Given the description of an element on the screen output the (x, y) to click on. 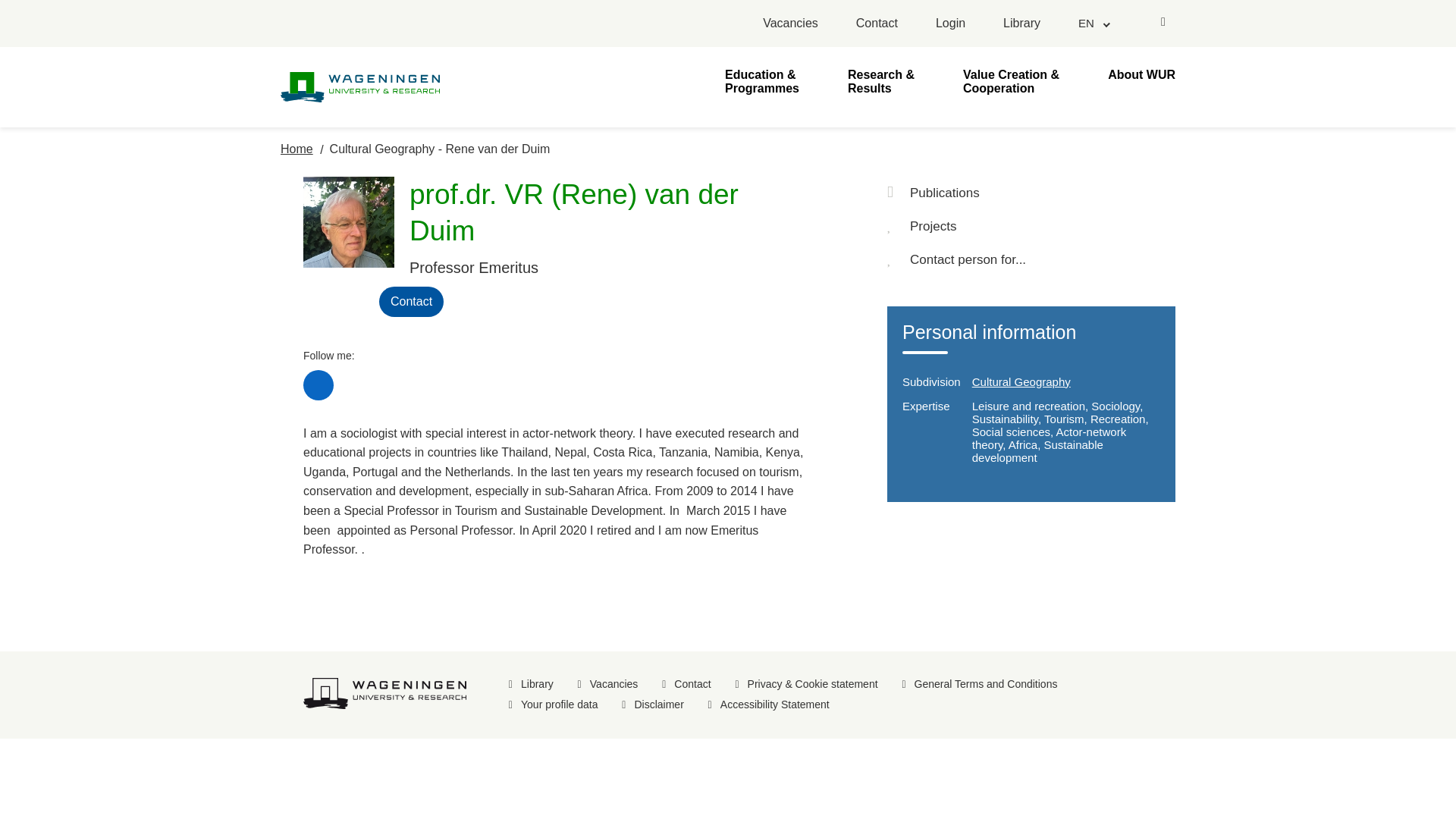
Contact person for... (1030, 259)
Contact (877, 23)
Login (950, 23)
EN (1093, 23)
Vacancies (790, 23)
Vacancies (790, 23)
Projects (1030, 226)
Library (1022, 23)
Home (297, 149)
Contact (877, 23)
Rene van der Duim op Linkedin (317, 385)
Login (950, 23)
Publications (1030, 192)
Library (1022, 23)
